Given the description of an element on the screen output the (x, y) to click on. 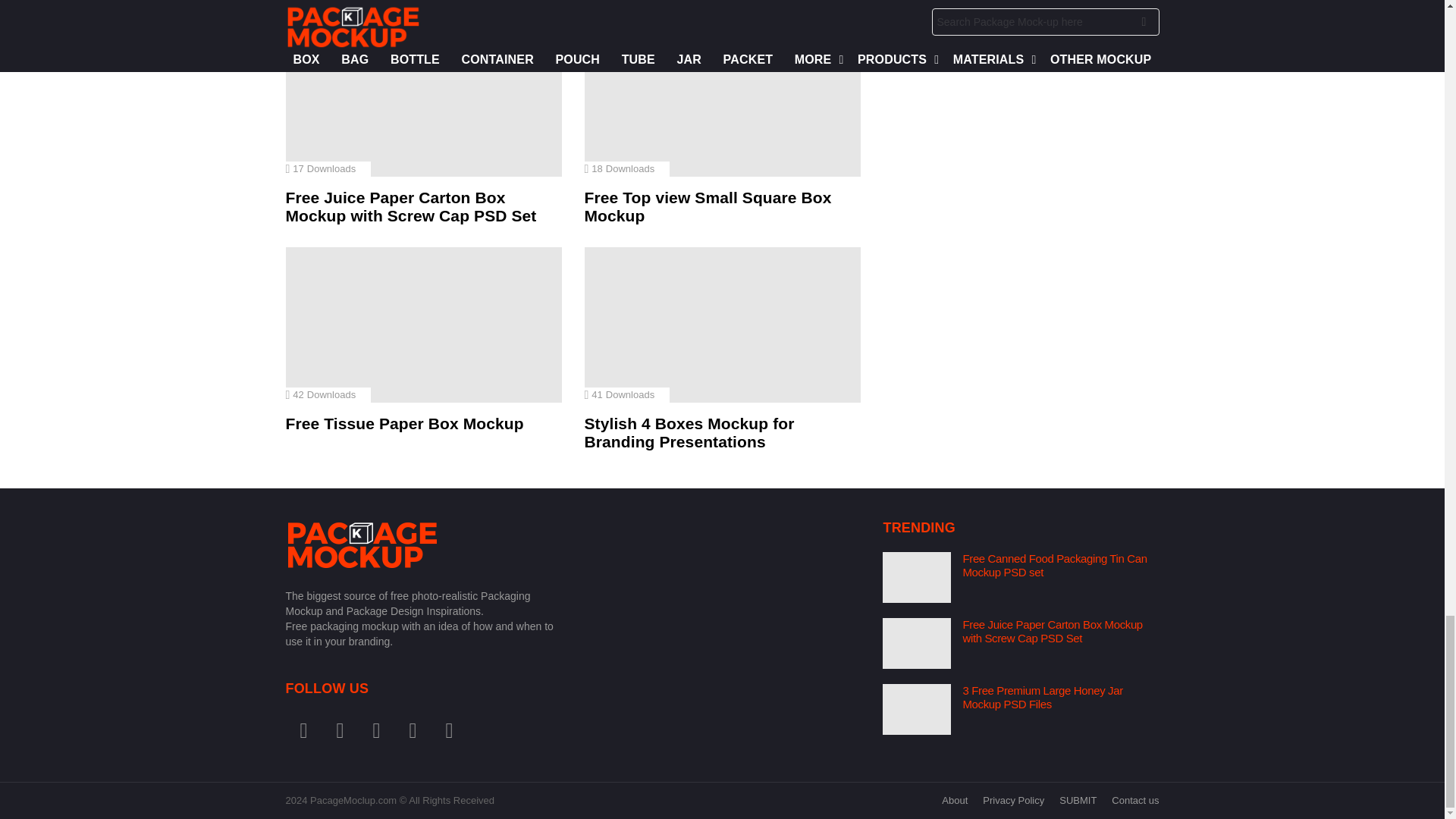
Free Juice Paper Carton Box Mockup with Screw Cap PSD Set (422, 98)
Stylish 4 Boxes Mockup for Branding Presentations (721, 324)
Free Top view Small Square Box Mockup (721, 98)
Free Tissue Paper Box Mockup (422, 324)
